Given the description of an element on the screen output the (x, y) to click on. 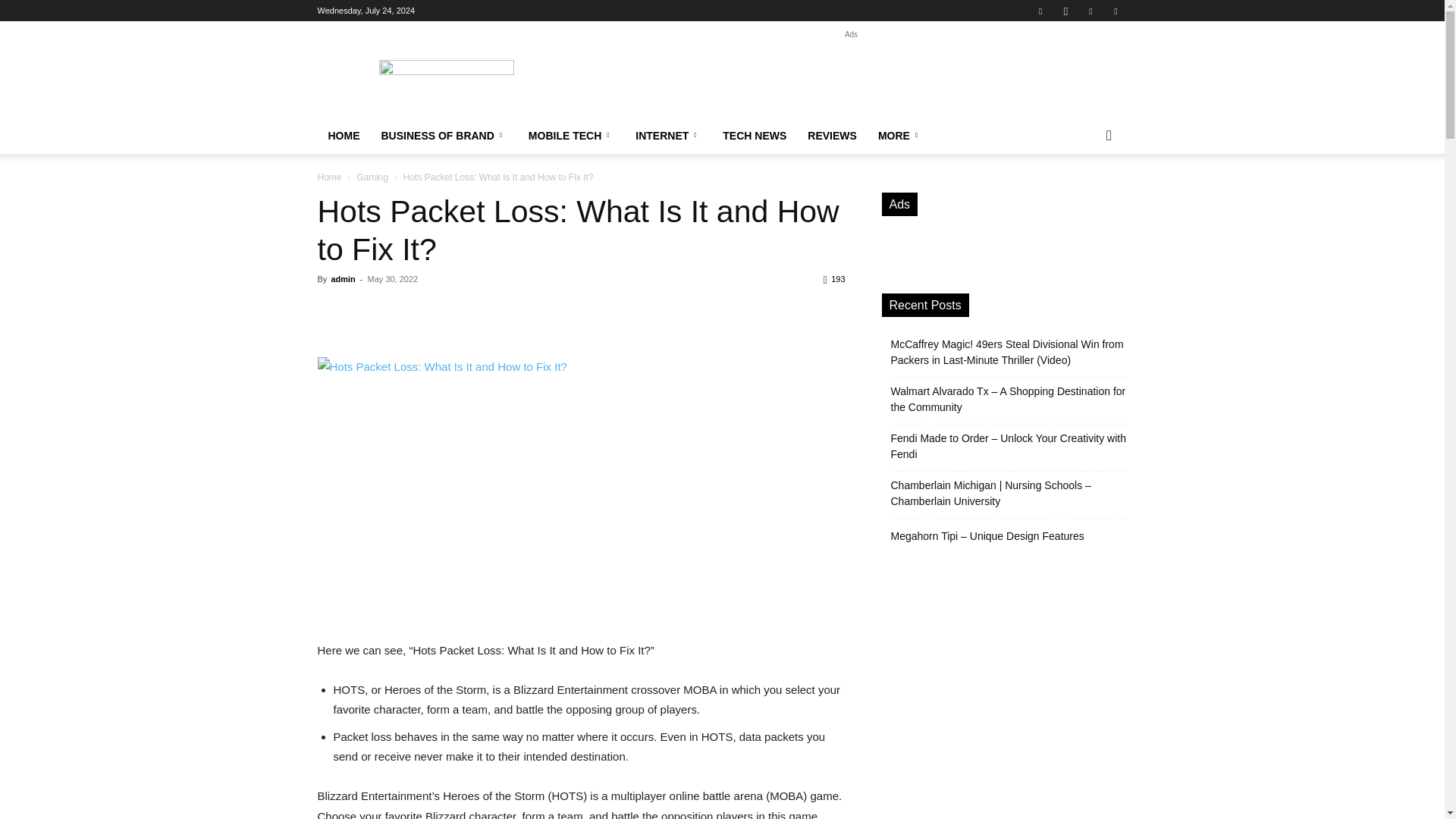
Facebook (1040, 10)
Instagram (1065, 10)
View all posts in Gaming (372, 176)
Twitter (1114, 10)
Pinterest (1090, 10)
